Given the description of an element on the screen output the (x, y) to click on. 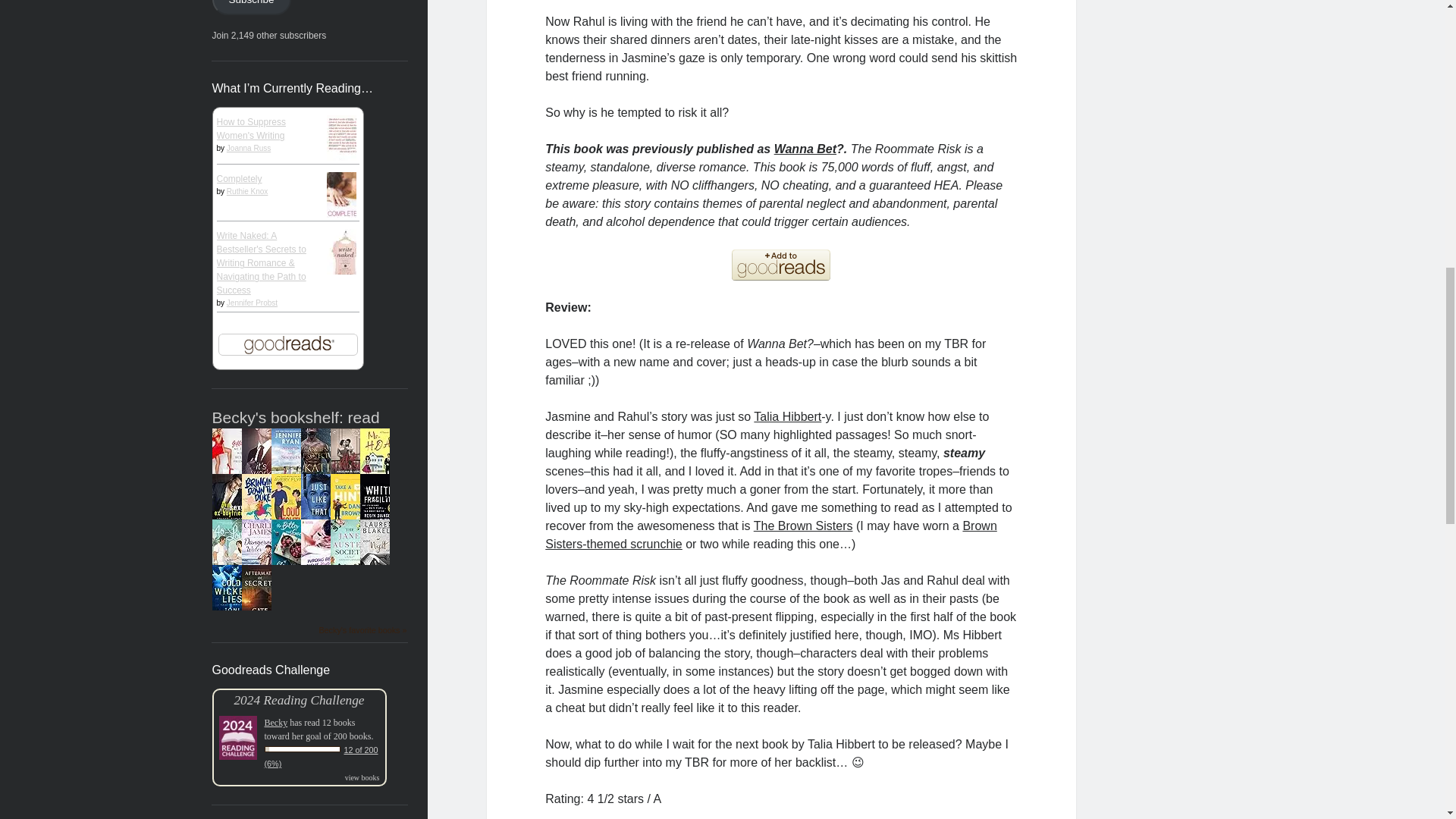
Ruthie Knox (247, 191)
How to Suppress Women's Writing (250, 128)
How to Suppress Women's Writing (344, 168)
Mr. H.O.A. (377, 481)
Sisters and Secrets (289, 481)
Dear Sexy Ex-Boyfriend (229, 527)
Becky's bookshelf: read (296, 416)
Jennifer Probst (252, 302)
Joanna Russ (248, 148)
Subscribe (251, 7)
